Given the description of an element on the screen output the (x, y) to click on. 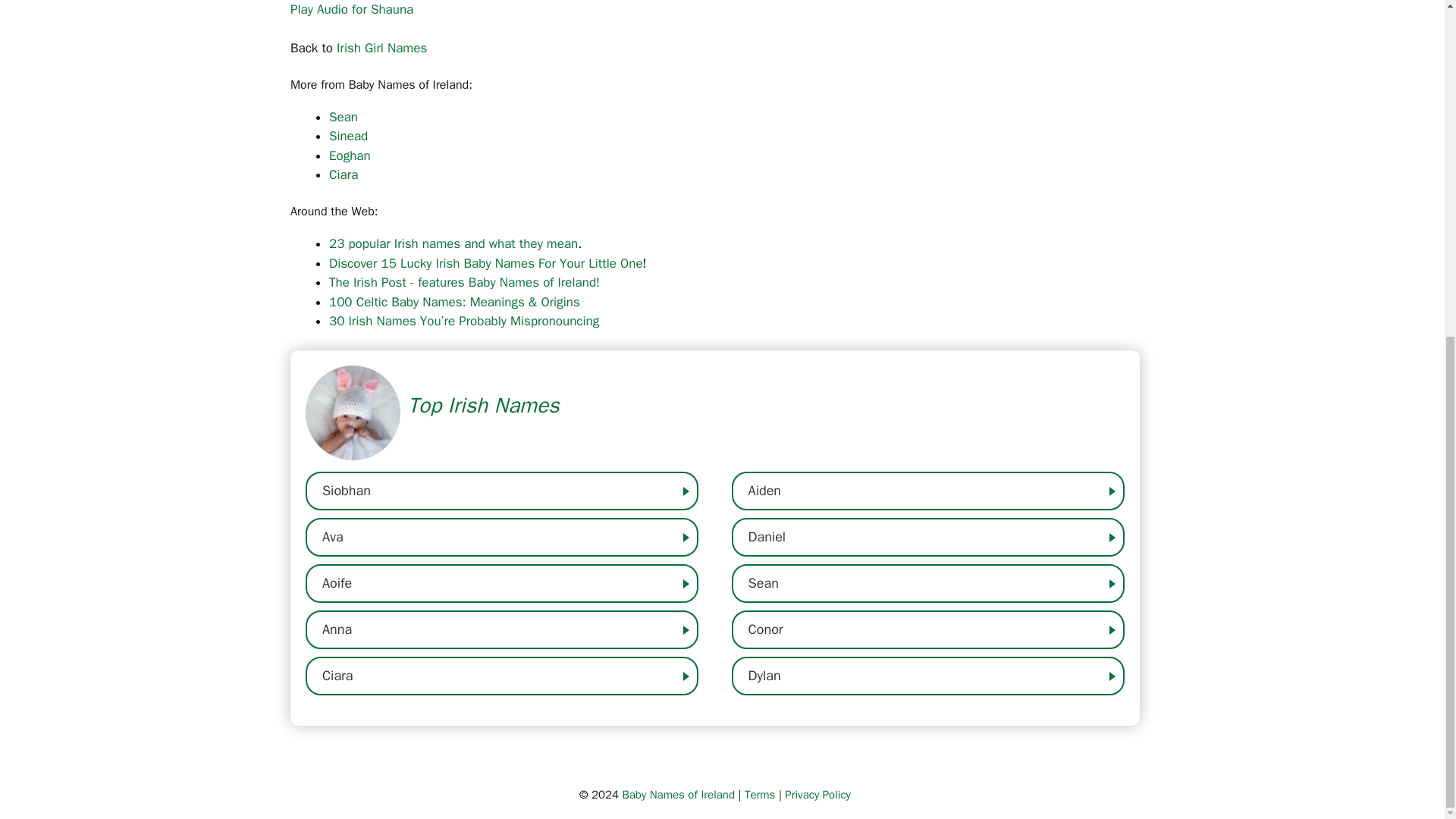
Ava (501, 536)
Dylan (928, 675)
Sean (343, 116)
Ciara (343, 174)
Terms (759, 794)
Baby Names of Ireland (678, 794)
Sinead (348, 135)
Irish Girl Names (381, 47)
Ciara (501, 675)
Siobhan (501, 490)
23 popular Irish names and what they mean (453, 243)
Sean (928, 583)
Daniel (928, 536)
Anna (501, 629)
Eoghan (350, 154)
